Given the description of an element on the screen output the (x, y) to click on. 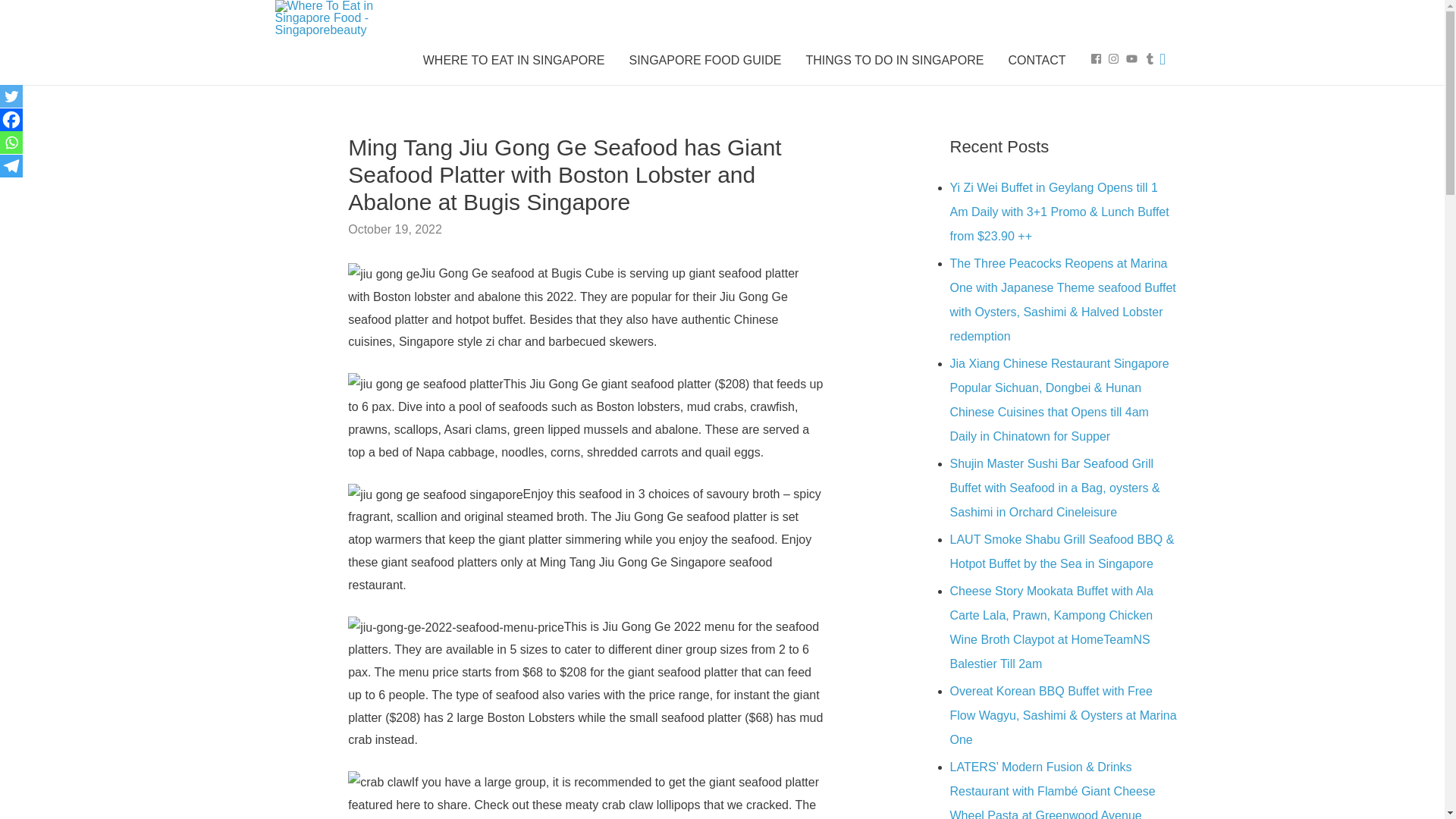
Telegram (11, 165)
THINGS TO DO IN SINGAPORE (894, 60)
Whatsapp (11, 142)
Facebook (11, 119)
WHERE TO EAT IN SINGAPORE (513, 60)
CONTACT (1036, 60)
SINGAPORE FOOD GUIDE (704, 60)
SEARCH (1162, 59)
Twitter (11, 96)
